Given the description of an element on the screen output the (x, y) to click on. 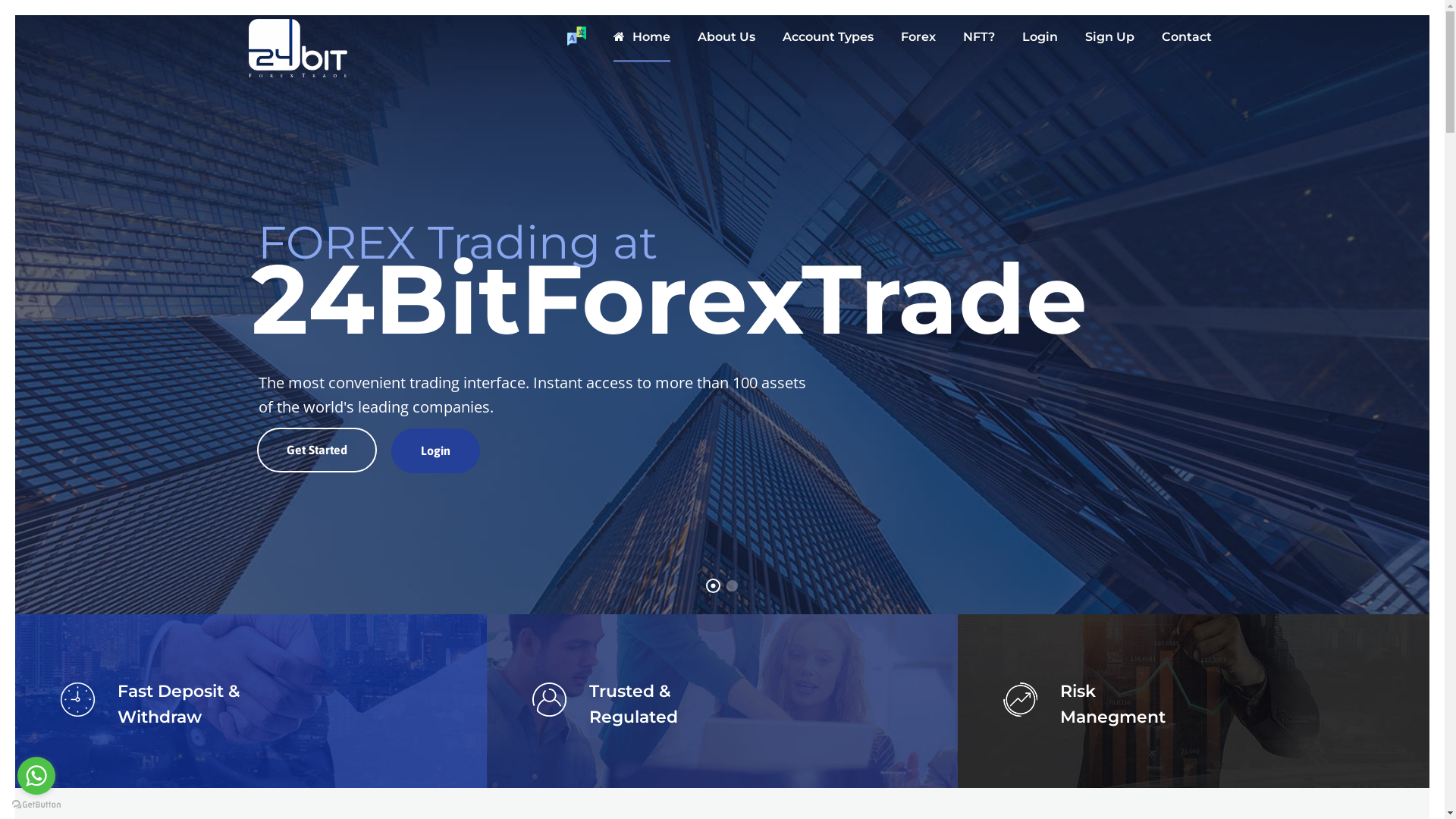
Sign Up Element type: text (1108, 44)
Login Element type: text (1039, 44)
NFT? Element type: text (978, 44)
Account Types Element type: text (827, 44)
Contact Element type: text (1186, 44)
Home Element type: text (640, 44)
Forex Element type: text (917, 44)
About Us Element type: text (726, 44)
